Given the description of an element on the screen output the (x, y) to click on. 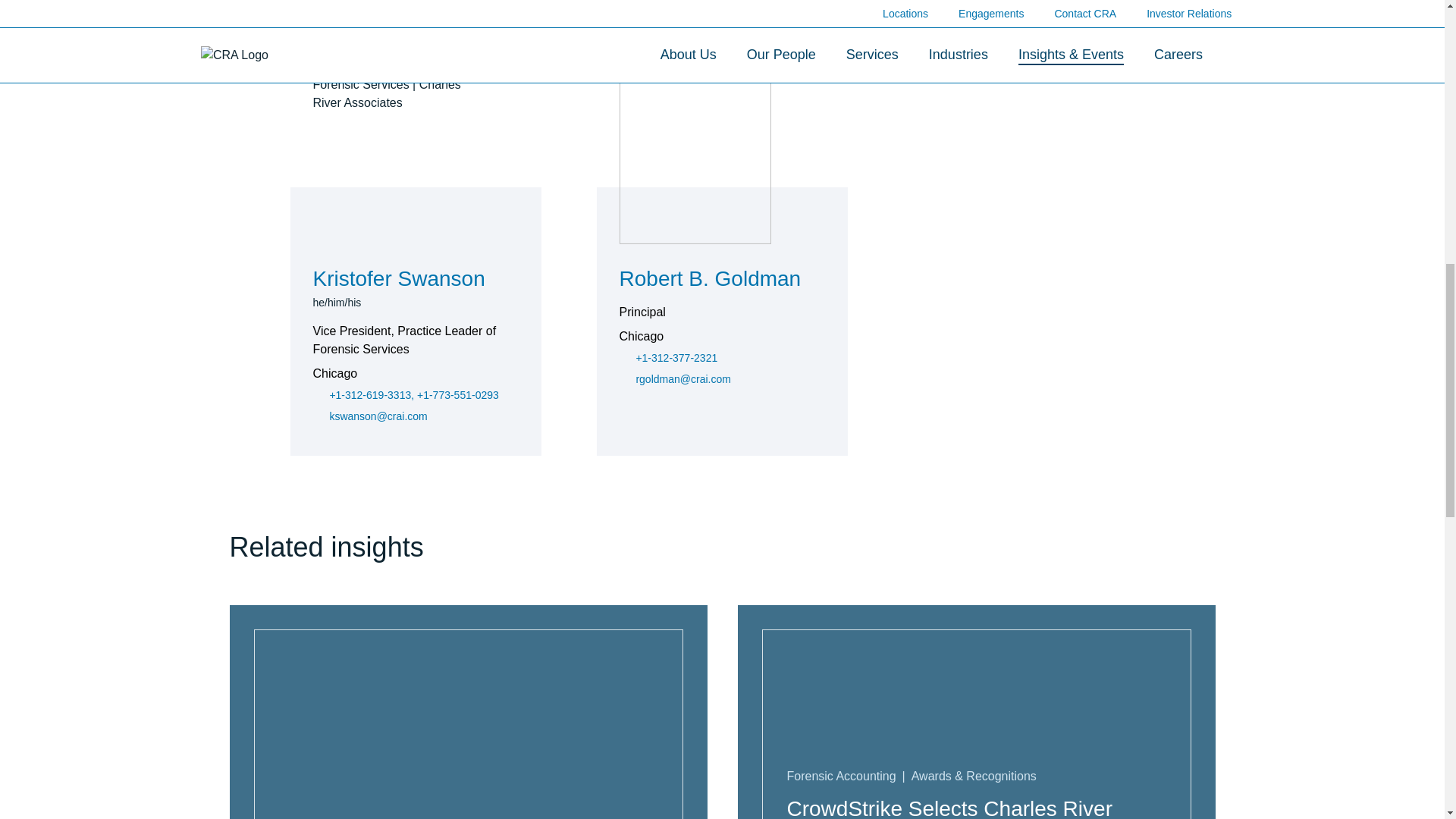
Robert B. Goldman (711, 280)
Kristofer Swanson (398, 280)
